Given the description of an element on the screen output the (x, y) to click on. 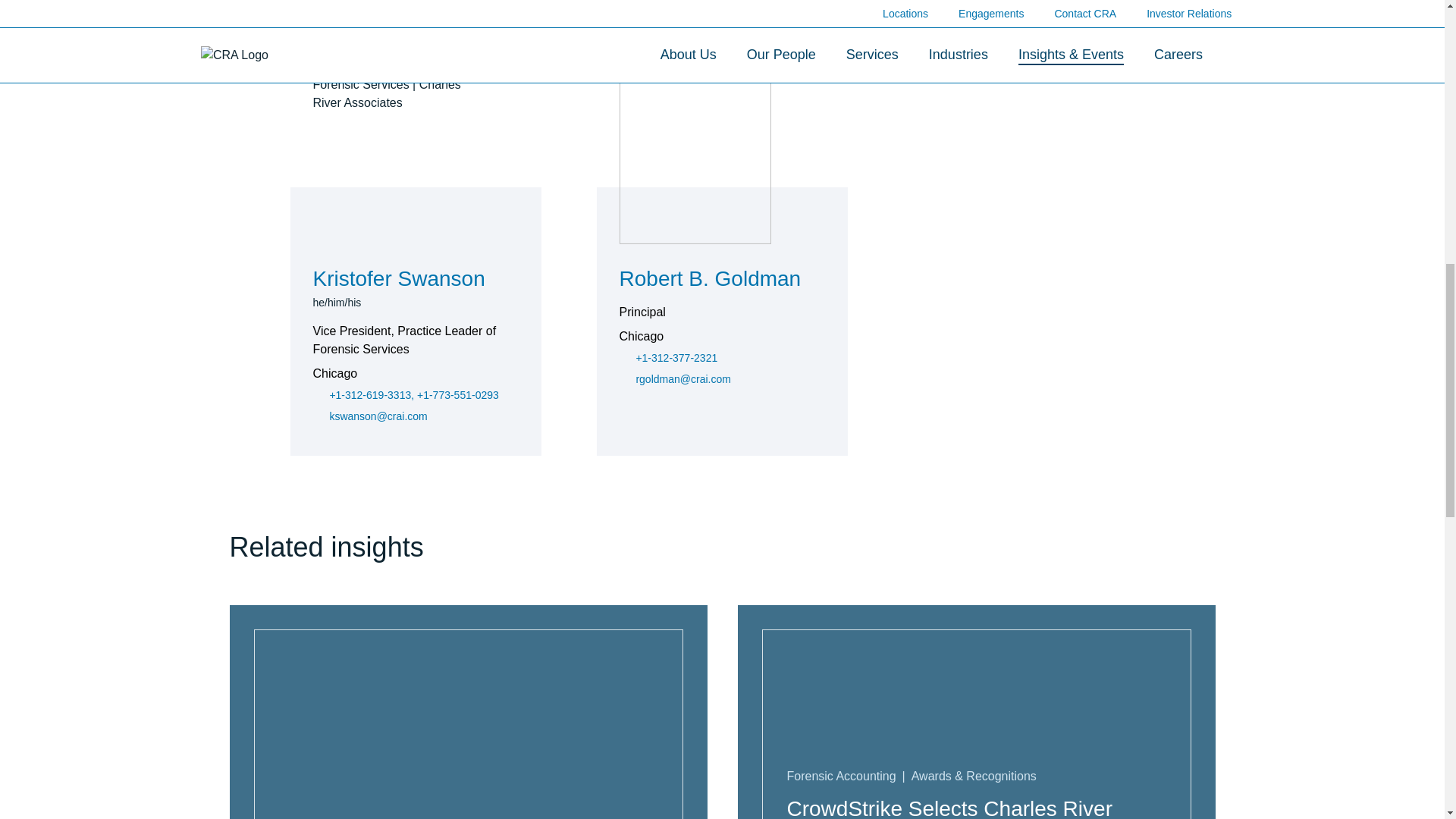
Robert B. Goldman (711, 280)
Kristofer Swanson (398, 280)
